Given the description of an element on the screen output the (x, y) to click on. 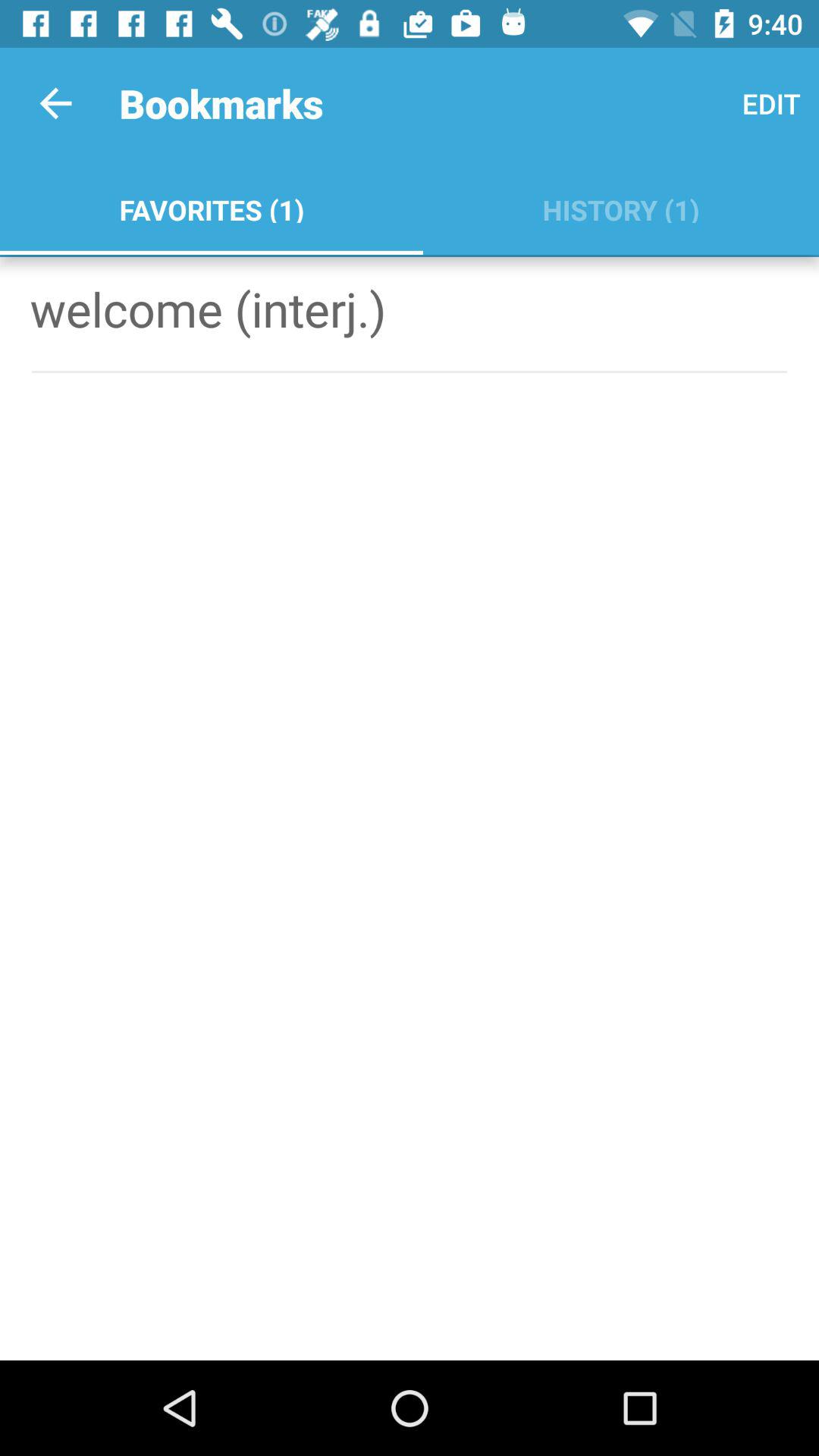
open app next to favorites (1) app (621, 206)
